Given the description of an element on the screen output the (x, y) to click on. 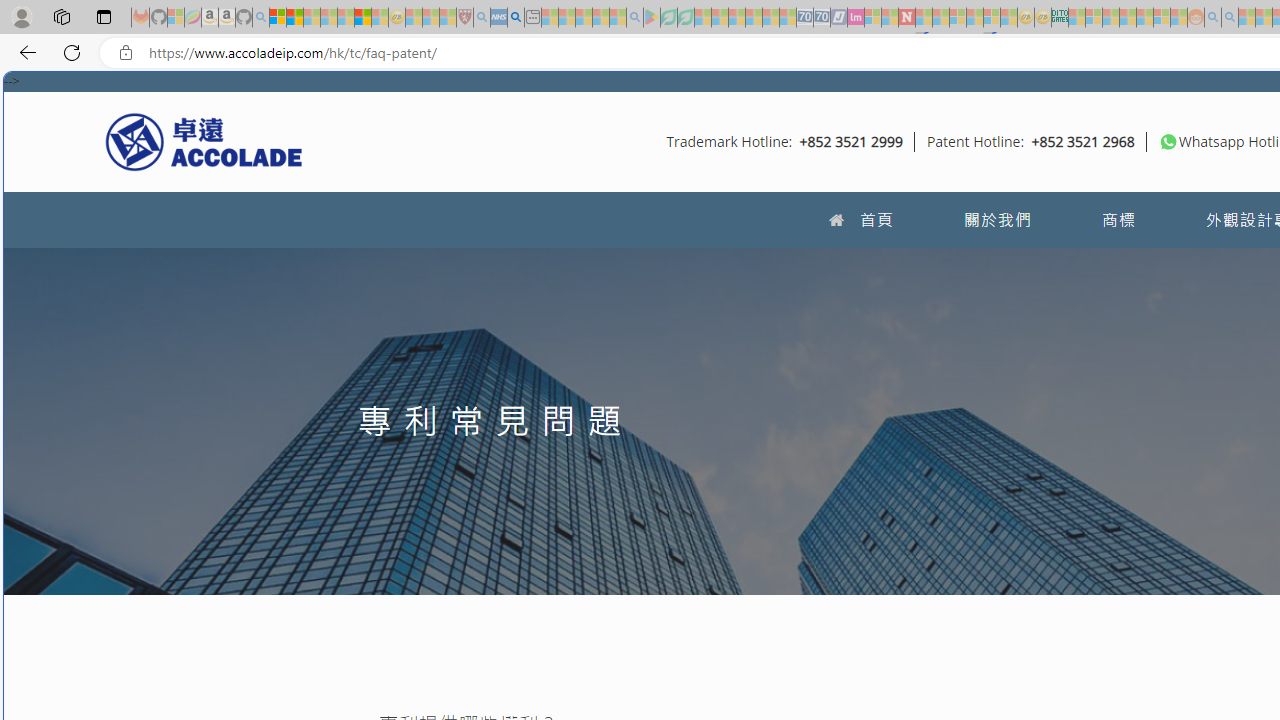
Accolade IP HK Logo (203, 141)
